Given the description of an element on the screen output the (x, y) to click on. 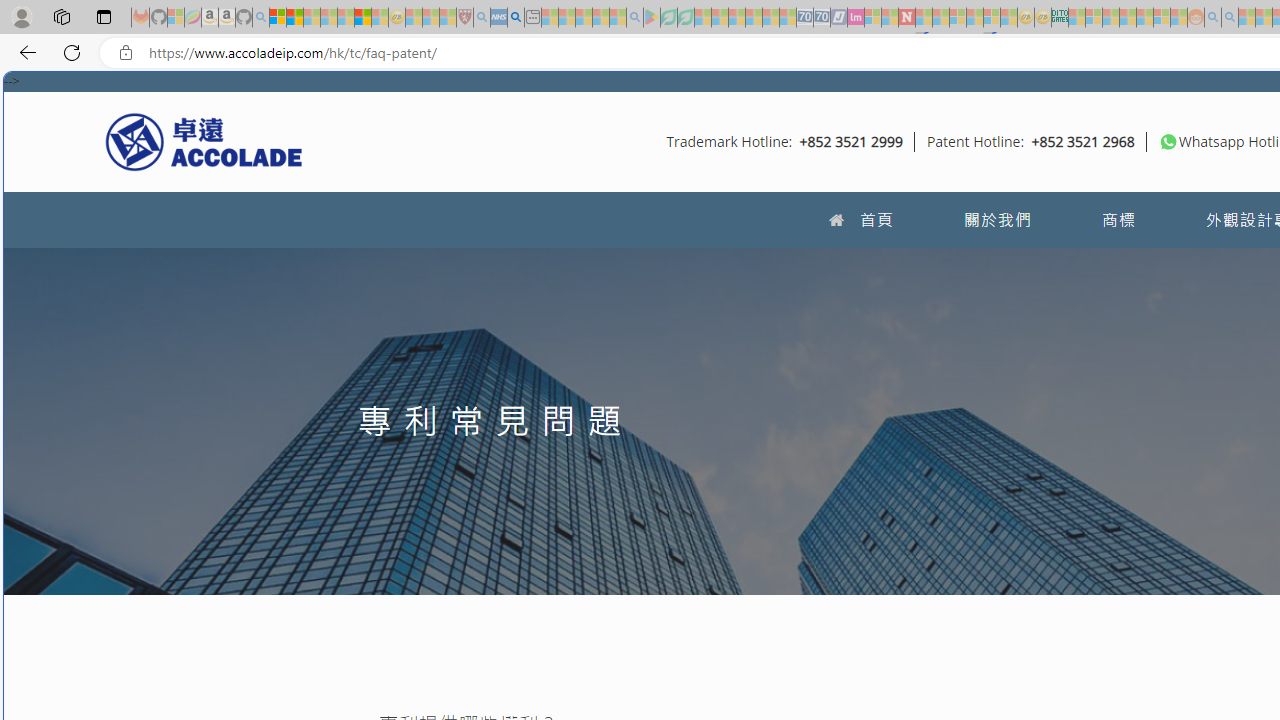
Accolade IP HK Logo (203, 141)
